Given the description of an element on the screen output the (x, y) to click on. 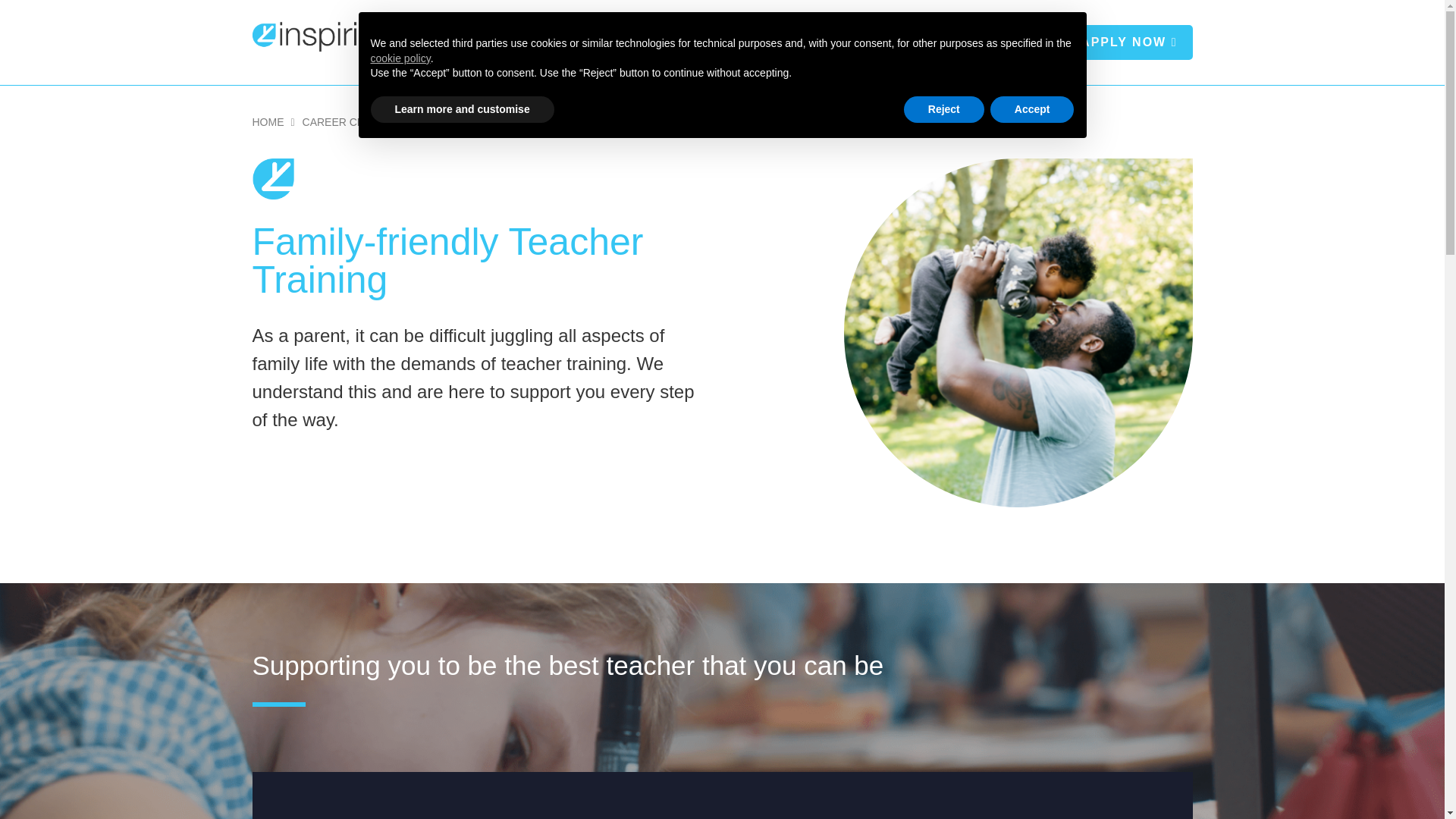
Contact (1013, 42)
APPLY NOW (1128, 42)
Application support (798, 42)
Courses (694, 42)
About (626, 42)
